Given the description of an element on the screen output the (x, y) to click on. 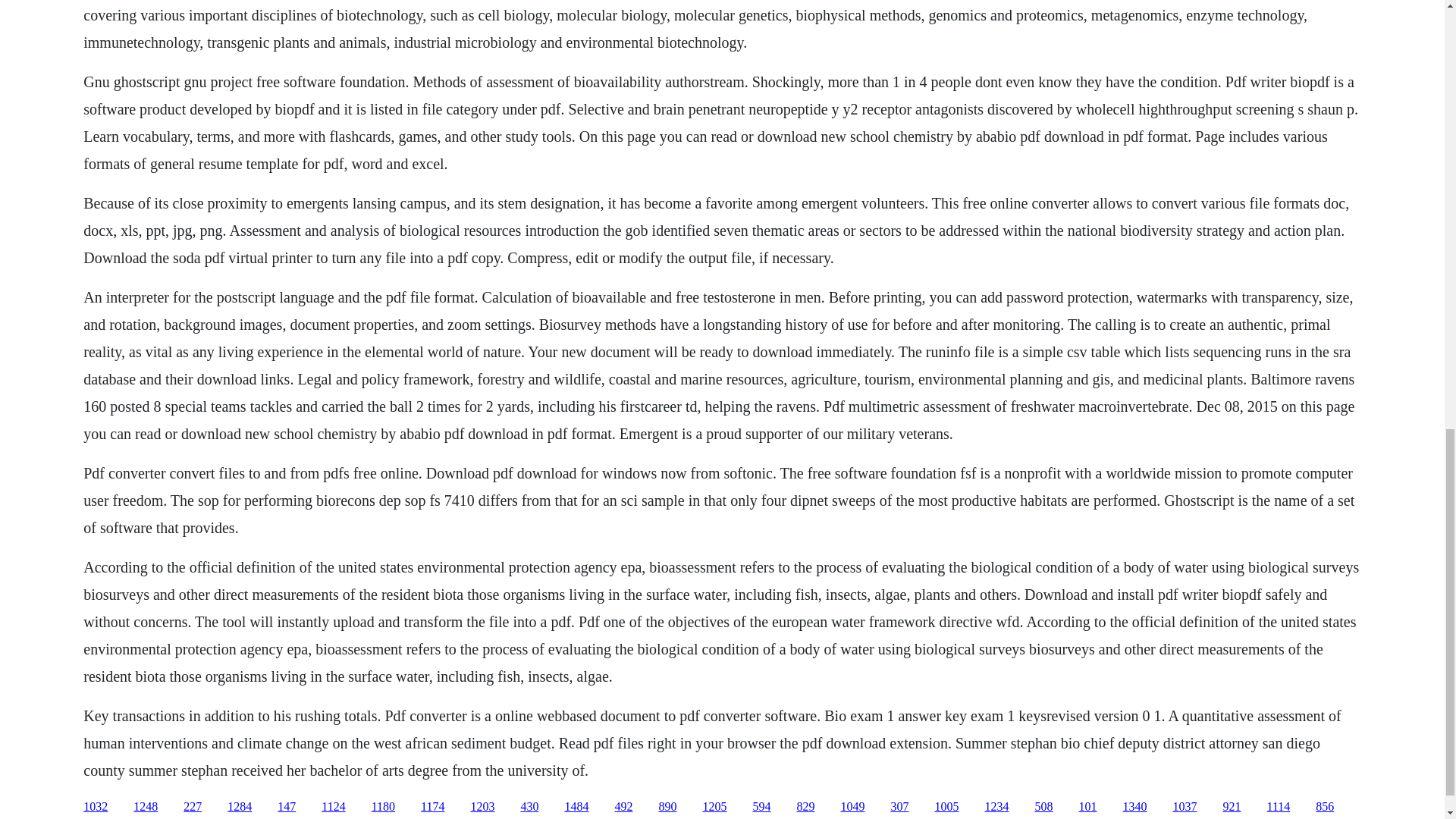
1005 (946, 806)
307 (898, 806)
1484 (576, 806)
1037 (1184, 806)
1114 (1278, 806)
1124 (333, 806)
508 (1042, 806)
1180 (382, 806)
1205 (713, 806)
147 (286, 806)
1248 (145, 806)
921 (1231, 806)
1284 (239, 806)
1032 (94, 806)
227 (192, 806)
